Given the description of an element on the screen output the (x, y) to click on. 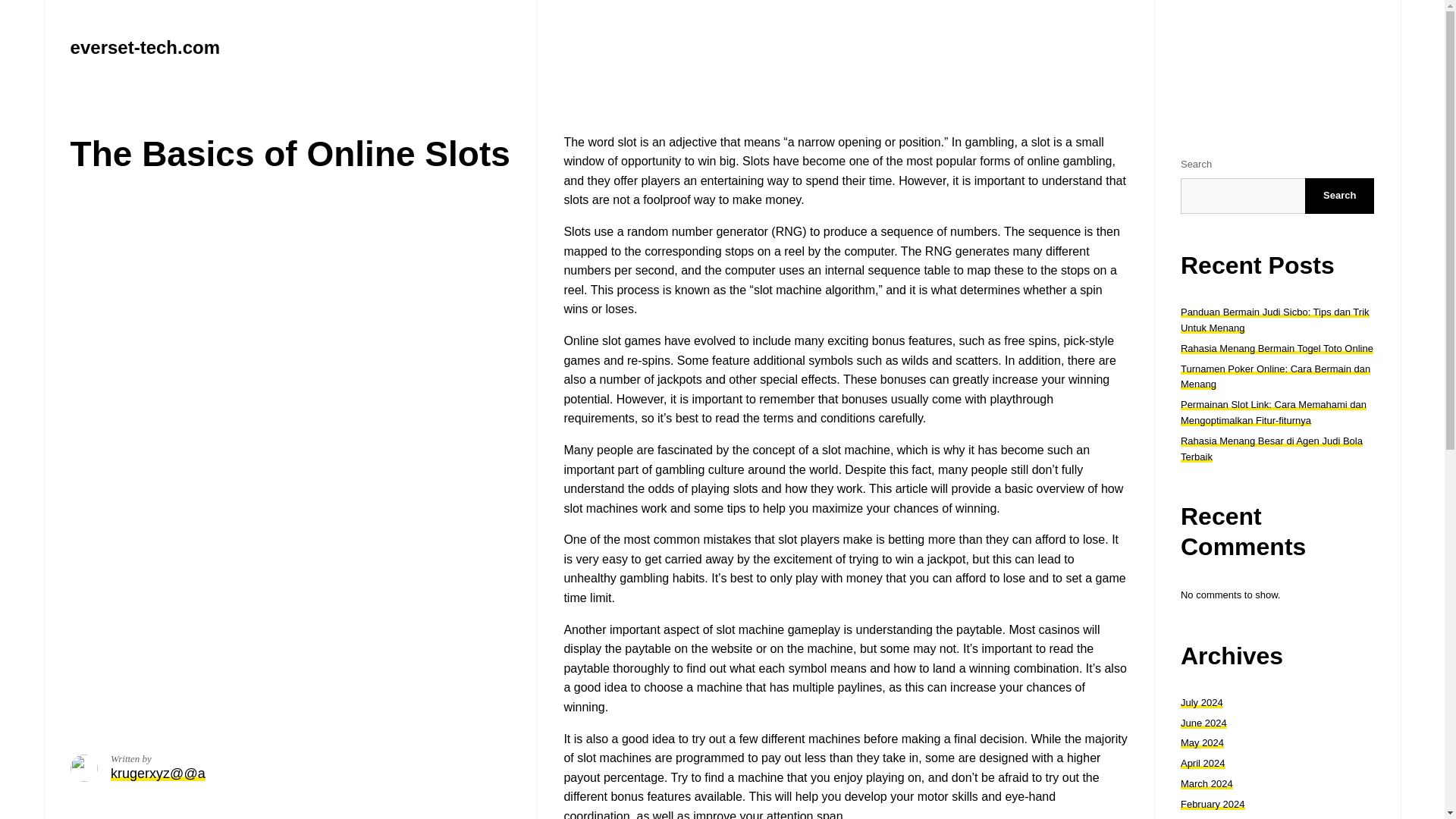
Search (1339, 195)
June 2024 (1203, 722)
July 2024 (1201, 702)
February 2024 (1212, 803)
March 2024 (1206, 783)
May 2024 (1202, 742)
April 2024 (1202, 763)
Panduan Bermain Judi Sicbo: Tips dan Trik Untuk Menang (1275, 319)
Rahasia Menang Bermain Togel Toto Online (1276, 348)
everset-tech.com (144, 47)
Rahasia Menang Besar di Agen Judi Bola Terbaik (1271, 448)
Turnamen Poker Online: Cara Bermain dan Menang (1275, 376)
